Given the description of an element on the screen output the (x, y) to click on. 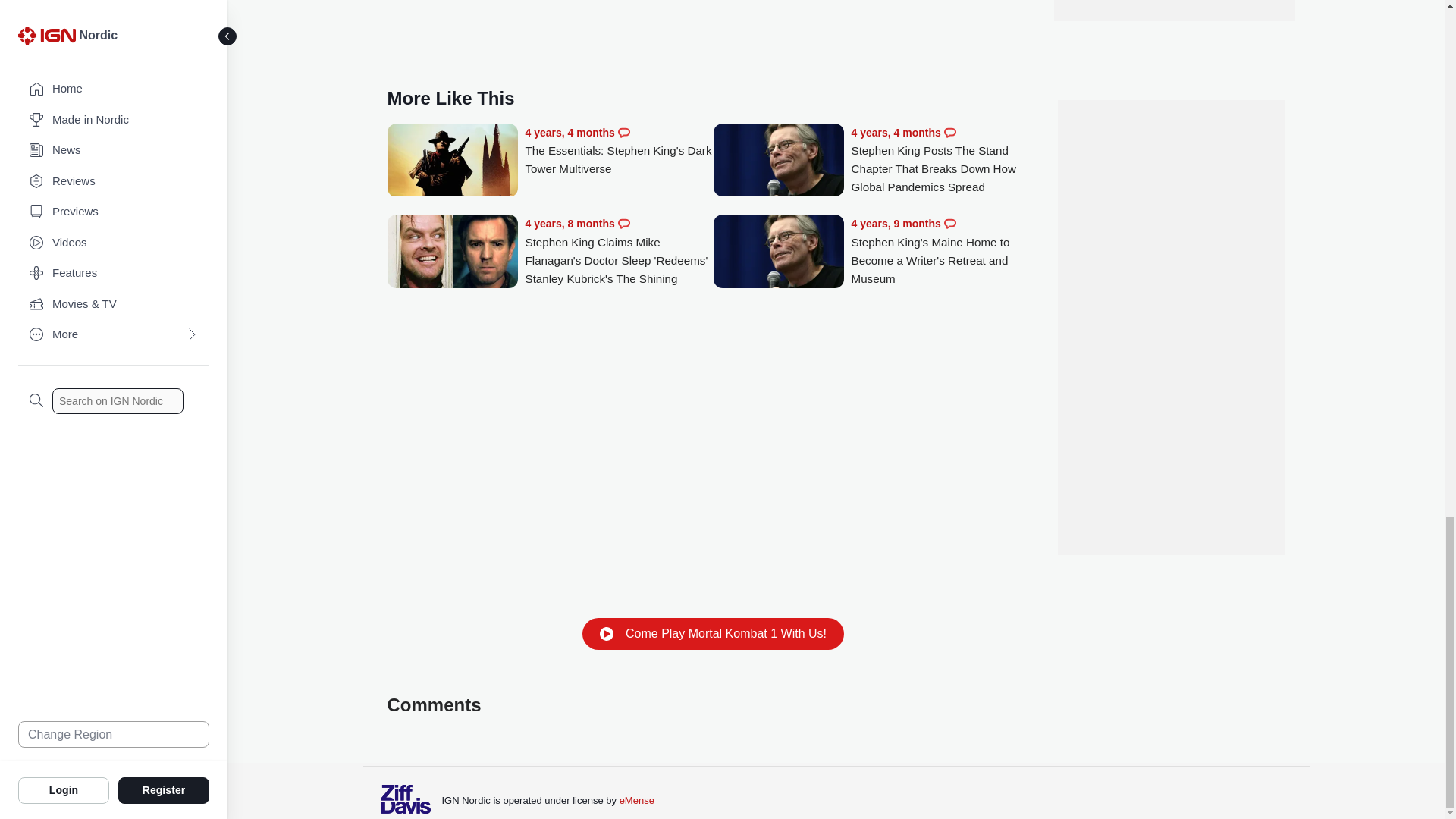
Comments (949, 223)
The Essentials: Stephen King's Dark Tower Multiverse (451, 161)
Comments (949, 132)
Comments (623, 223)
The Essentials: Stephen King's Dark Tower Multiverse (618, 151)
